Given the description of an element on the screen output the (x, y) to click on. 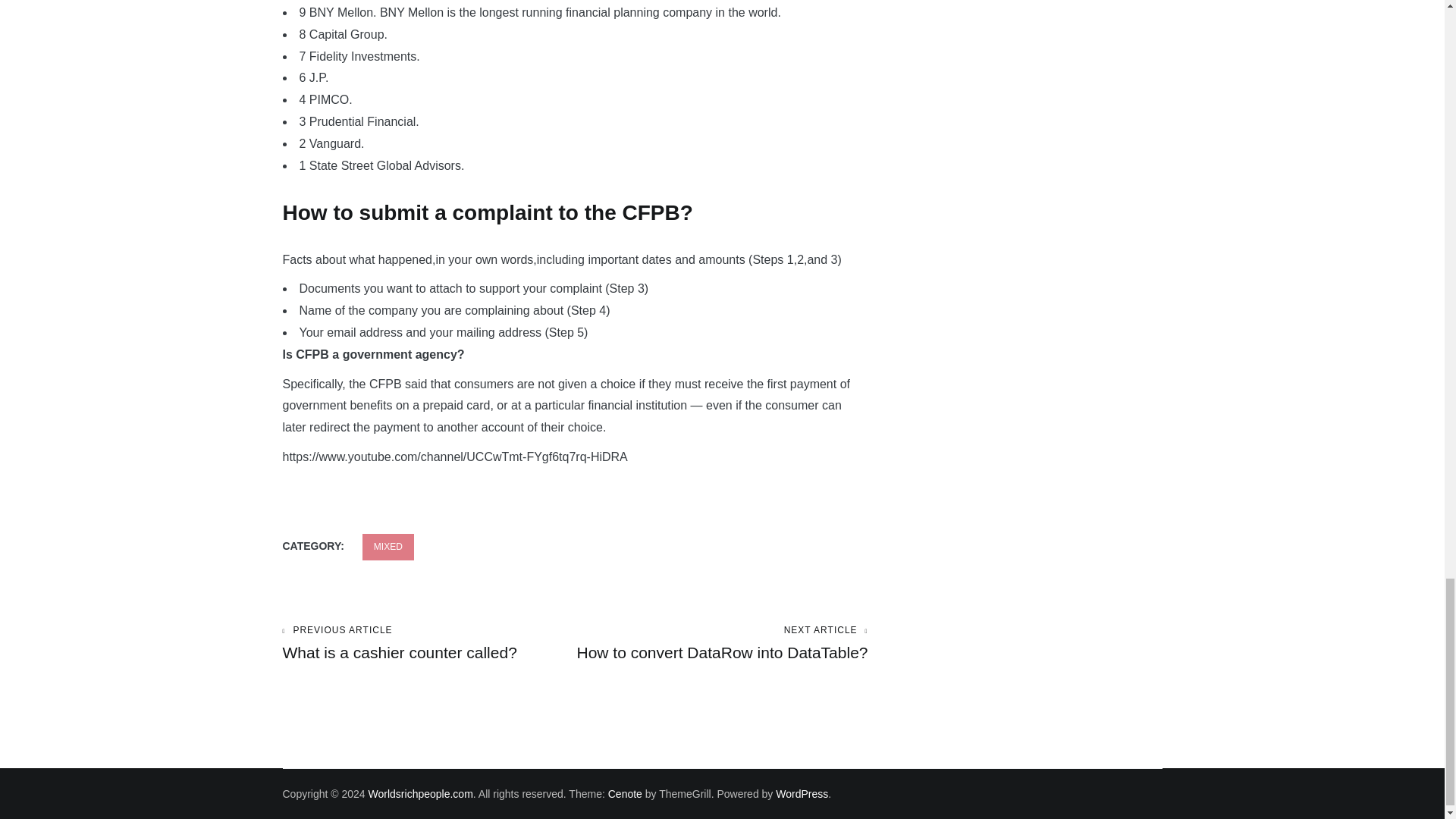
MIXED (387, 546)
Worldsrichpeople.com (428, 642)
